Given the description of an element on the screen output the (x, y) to click on. 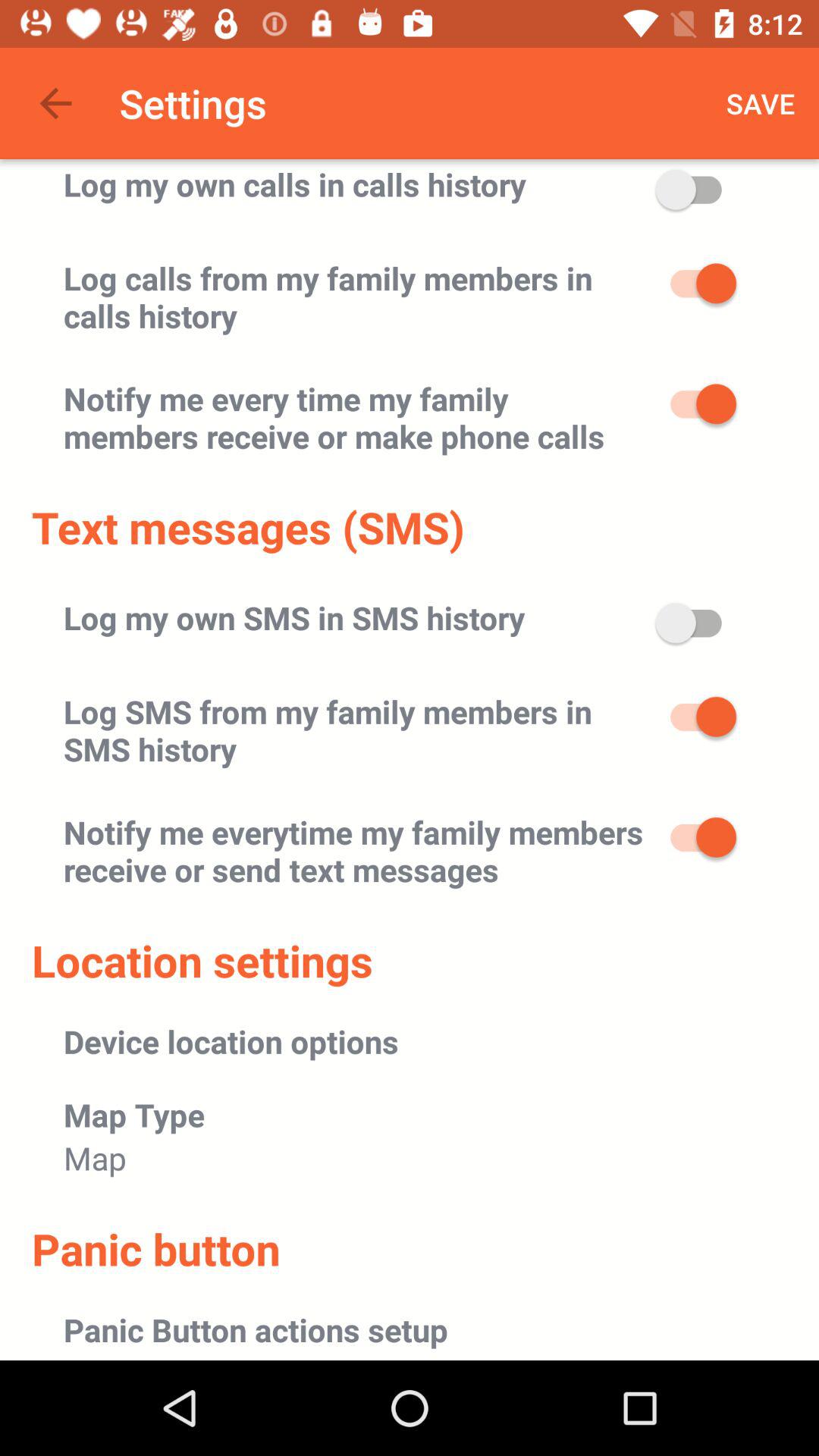
swipe to the device location options item (230, 1040)
